Given the description of an element on the screen output the (x, y) to click on. 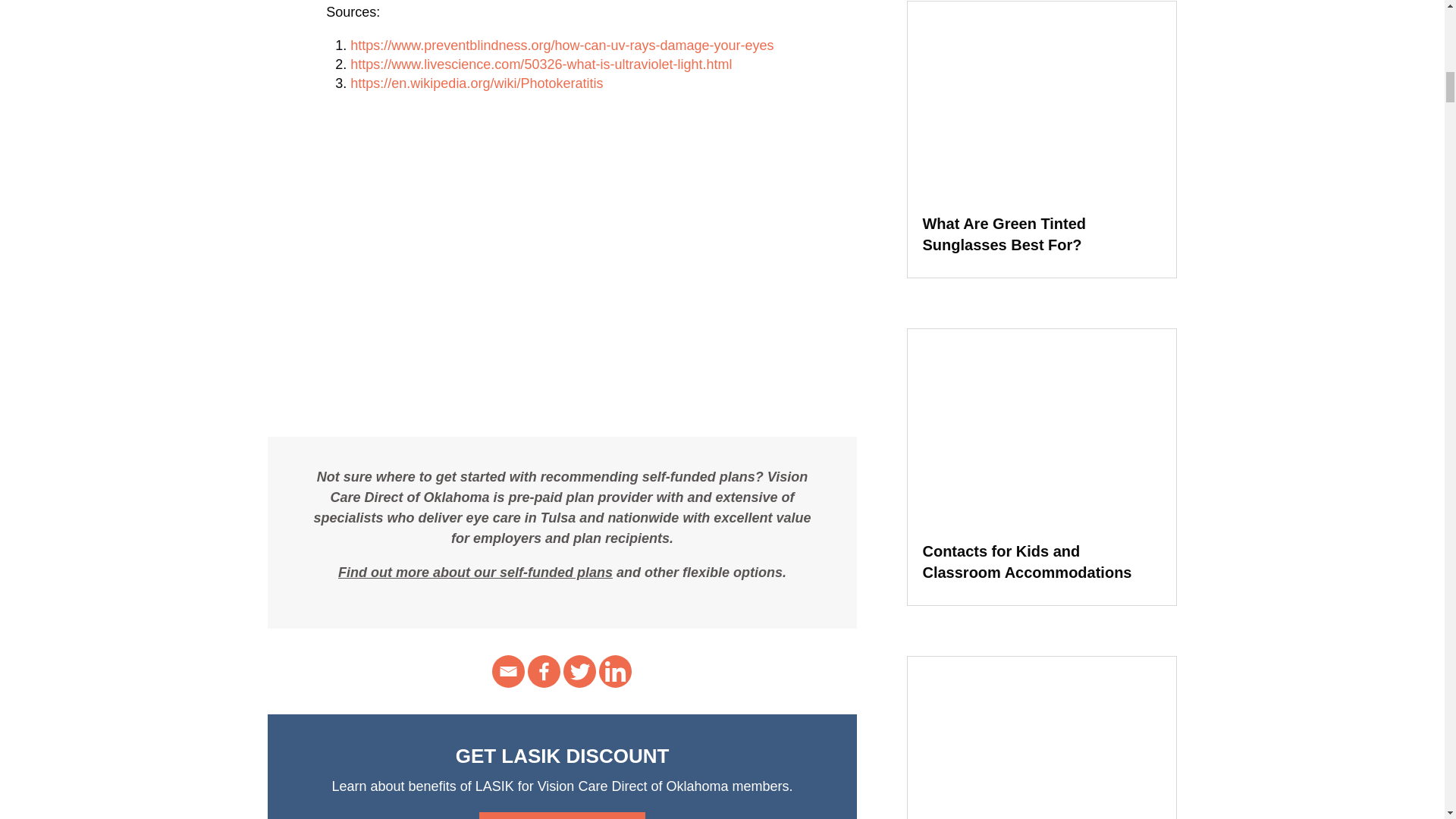
Twitter (579, 671)
Facebook (543, 671)
Linkedin (614, 671)
Email (508, 671)
